Given the description of an element on the screen output the (x, y) to click on. 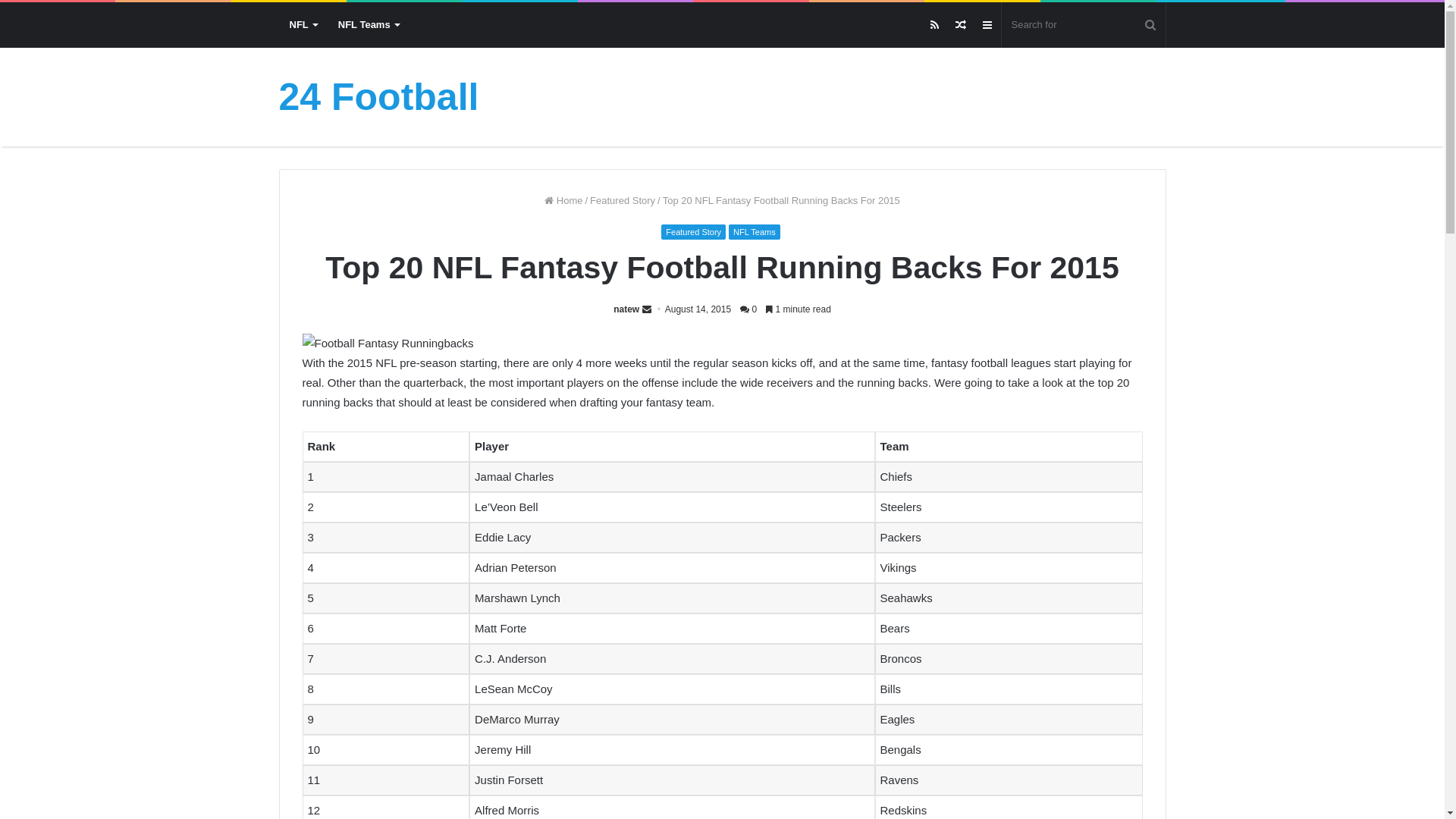
Random Article Element type: text (960, 24)
natew Element type: text (626, 309)
0 Element type: text (748, 309)
Featured Story Element type: text (693, 231)
RSS Element type: hover (933, 24)
Home Element type: text (563, 200)
Featured Story Element type: text (622, 200)
24 Football Element type: text (379, 97)
Sidebar Element type: text (986, 24)
NFL Teams Element type: text (754, 231)
Search for Element type: hover (1082, 24)
NFL Teams Element type: text (368, 24)
NFL Element type: text (303, 24)
